Given the description of an element on the screen output the (x, y) to click on. 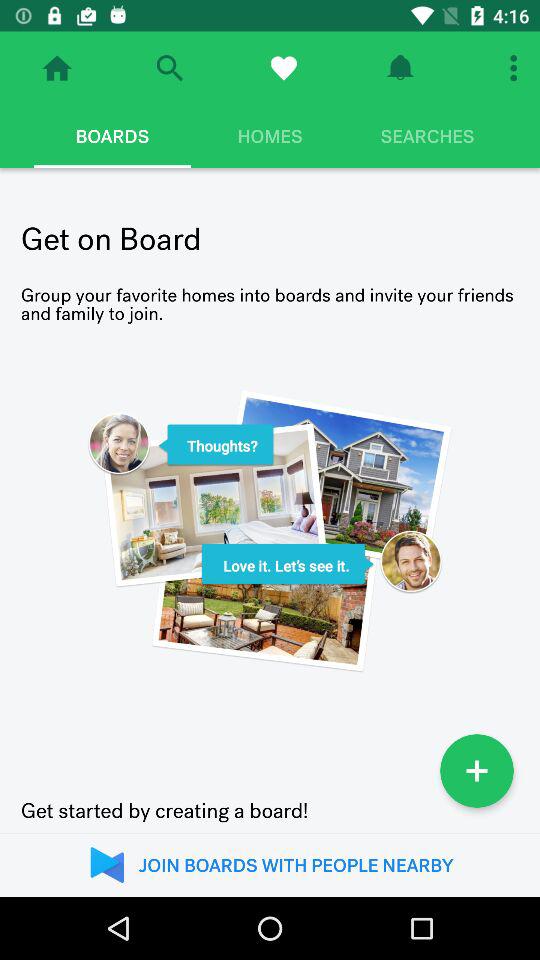
open search bar (169, 68)
